Given the description of an element on the screen output the (x, y) to click on. 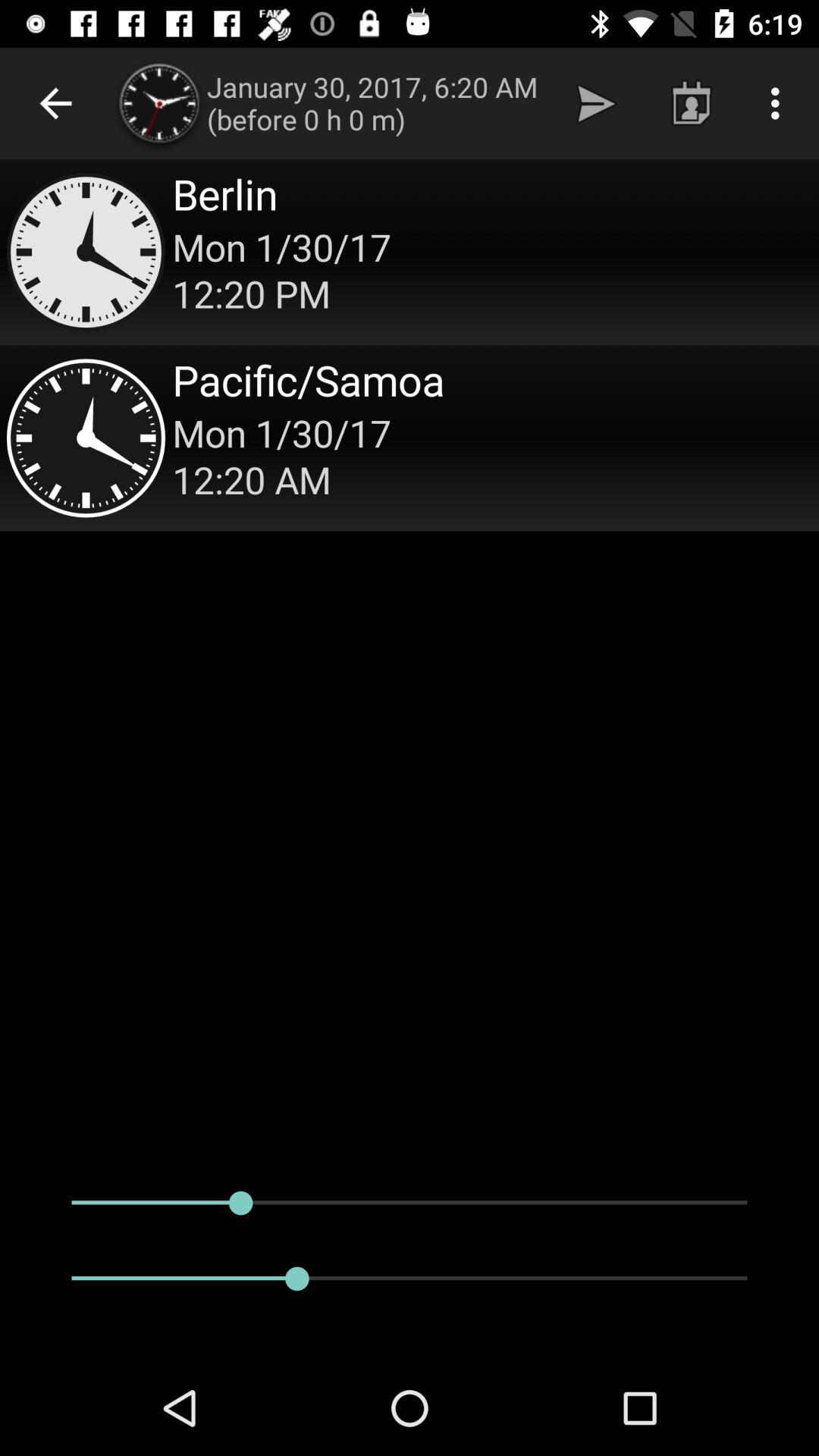
switch berlin timezone option (409, 252)
